Given the description of an element on the screen output the (x, y) to click on. 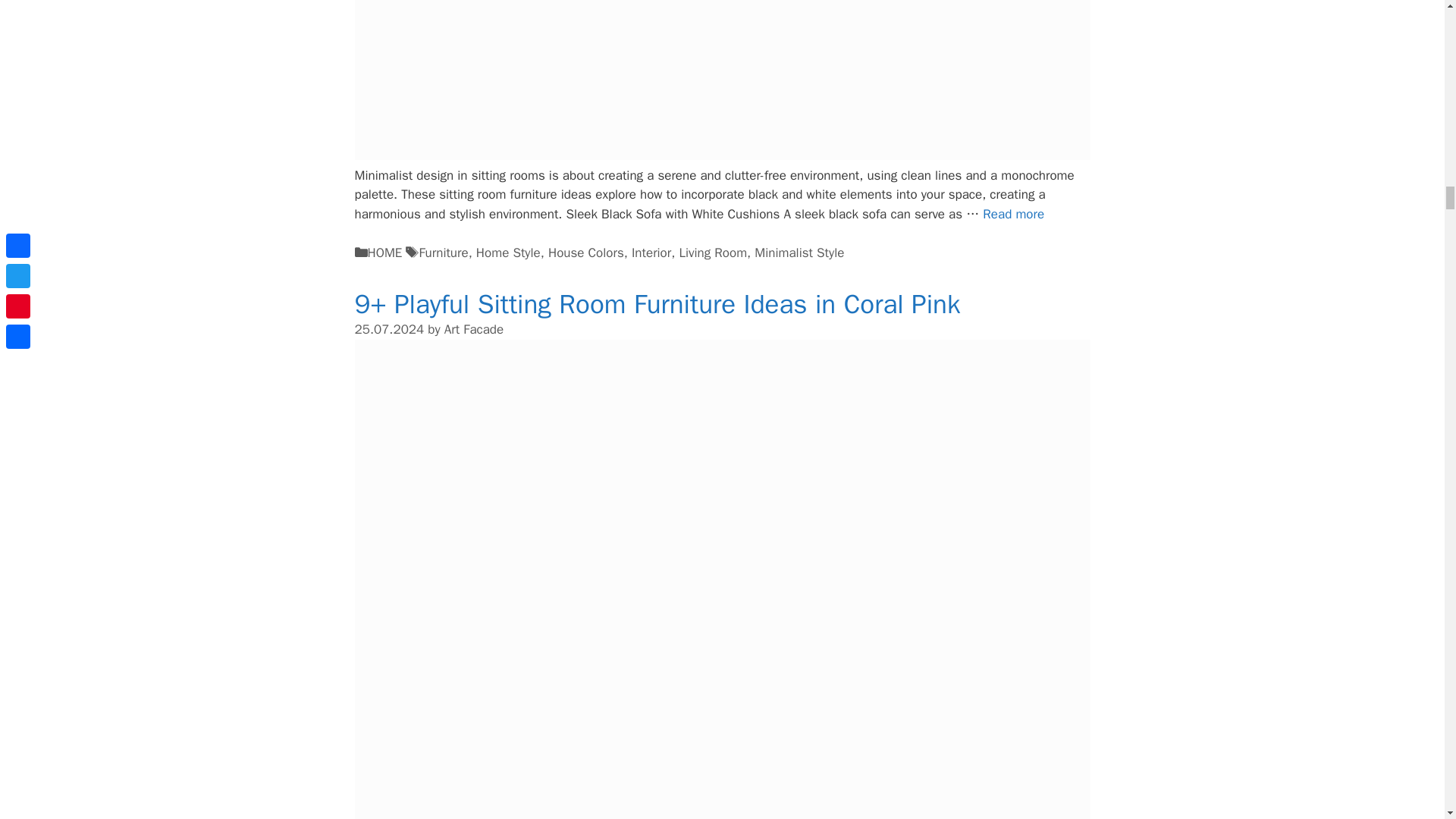
View all posts by Art Facade (473, 329)
